Given the description of an element on the screen output the (x, y) to click on. 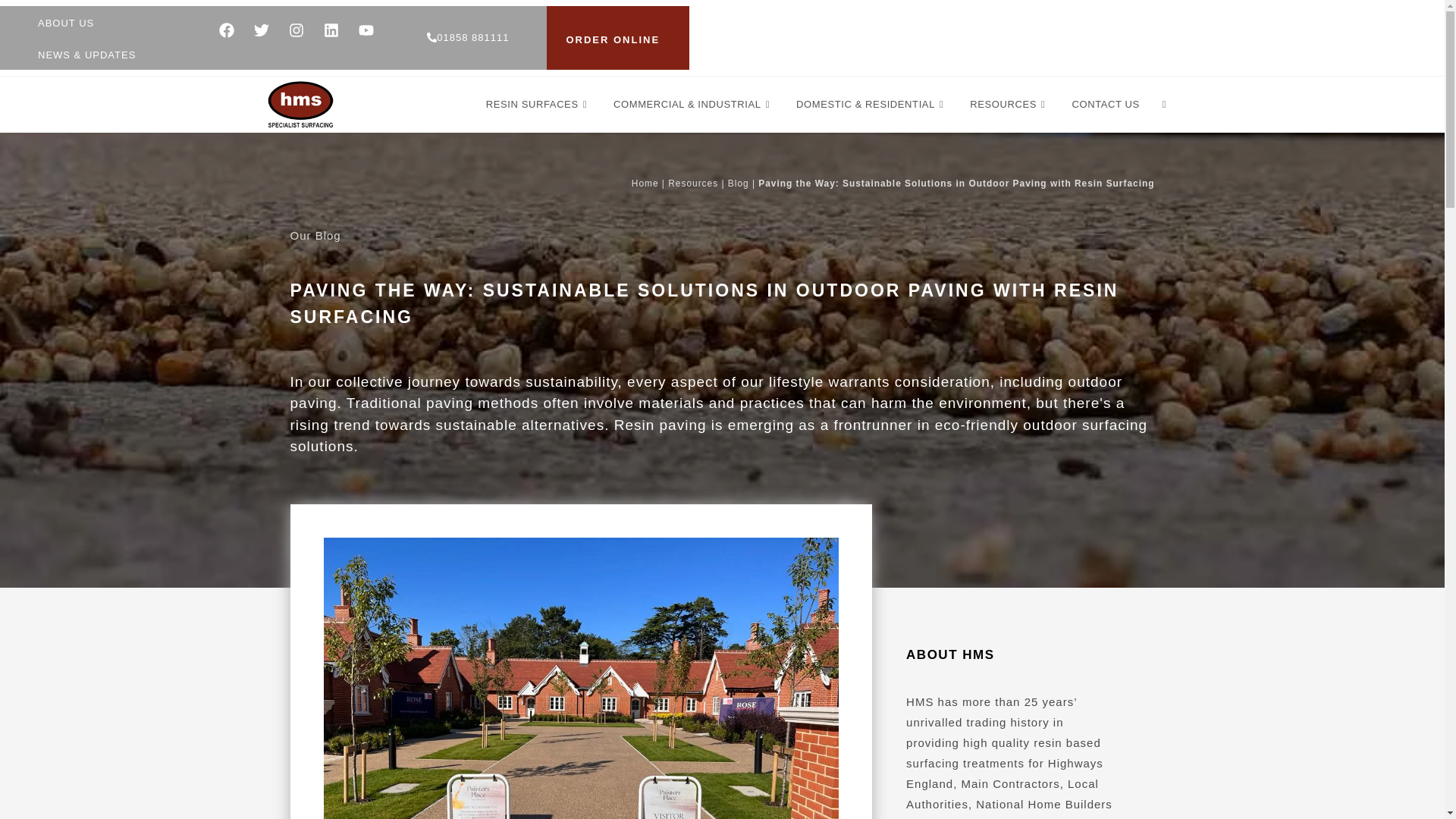
ABOUT US (65, 22)
ORDER ONLINE (612, 40)
01858 881111 (467, 38)
RESIN SURFACES (538, 104)
